Given the description of an element on the screen output the (x, y) to click on. 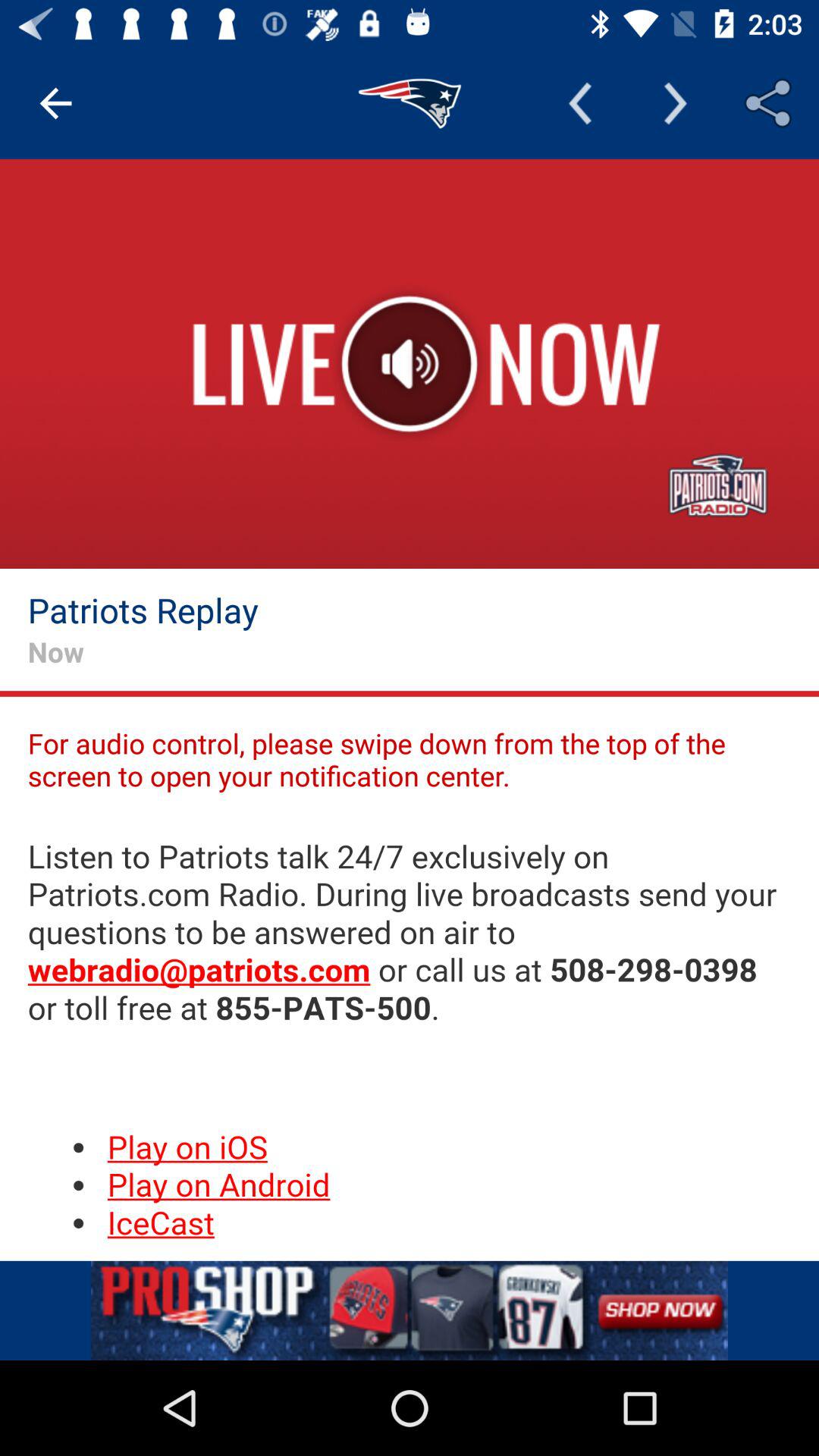
it show the purchase app (409, 1310)
